Given the description of an element on the screen output the (x, y) to click on. 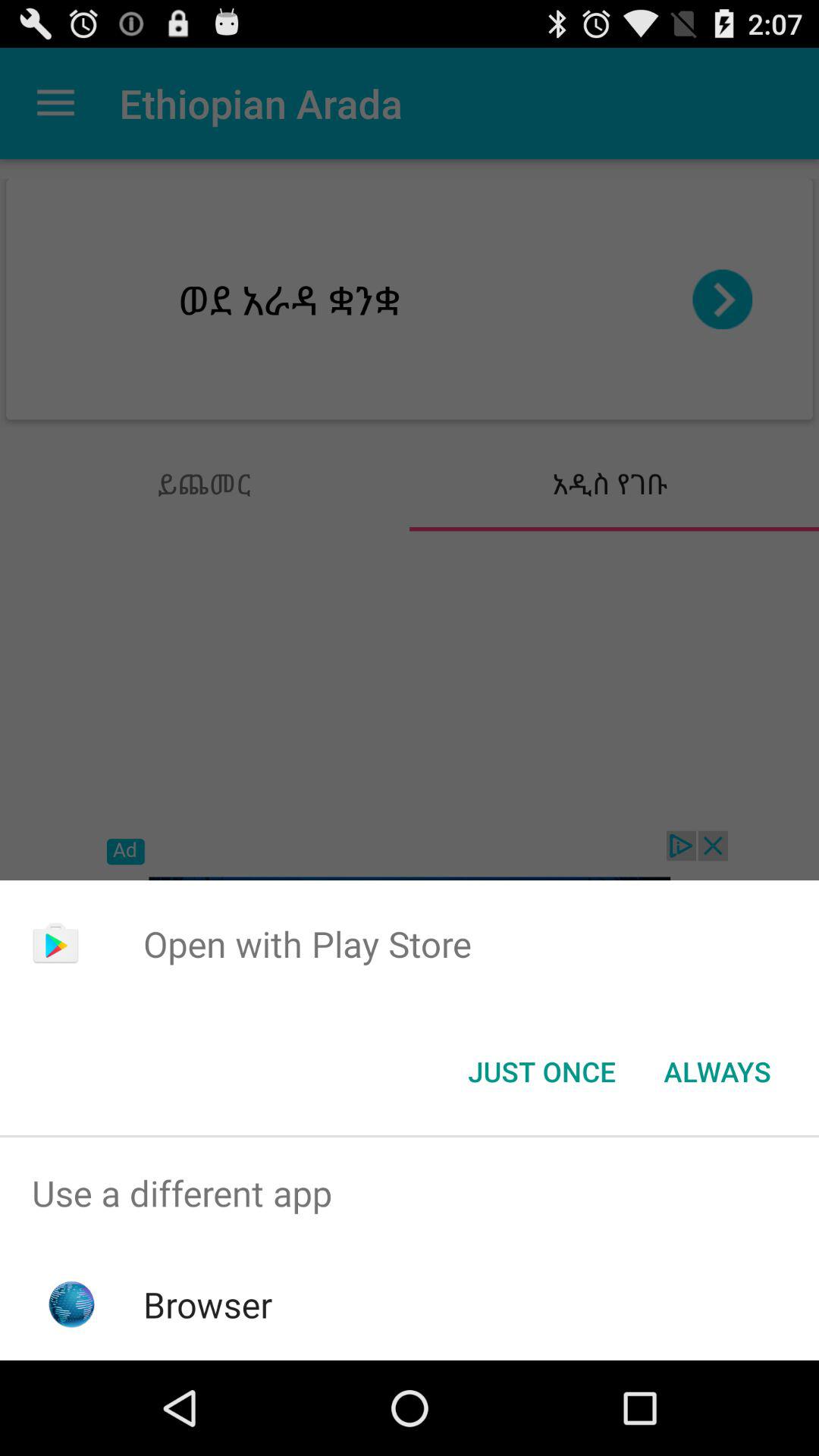
press the item to the left of the always (541, 1071)
